Given the description of an element on the screen output the (x, y) to click on. 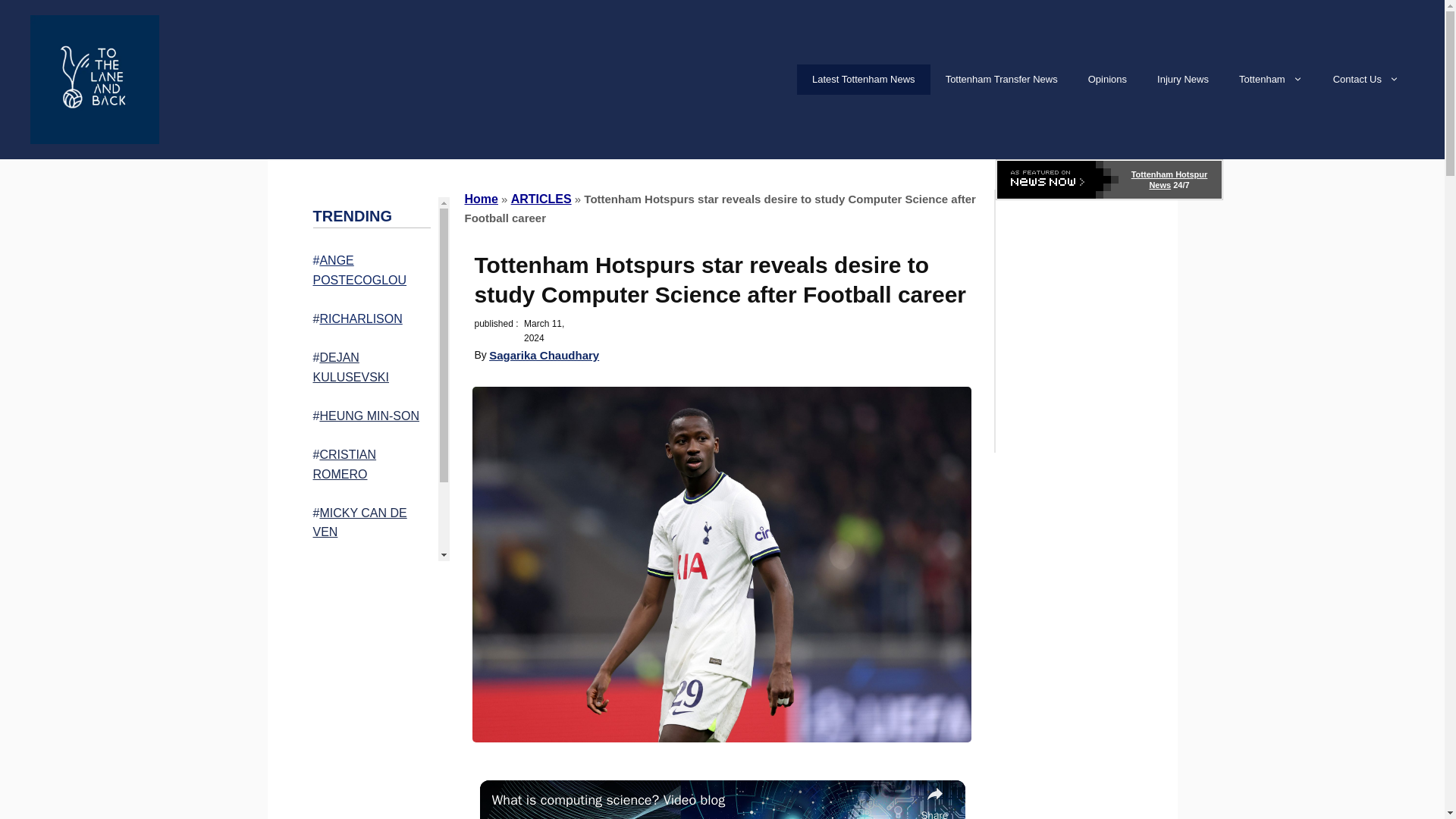
HEUNG MIN-SON (368, 415)
Sagarika Chaudhary (543, 354)
DEJAN KULUSEVSKI (350, 367)
Opinions (1107, 79)
Tottenham (1270, 79)
RADU DRAGUSIN (369, 570)
ANGE POSTECOGLOU (359, 269)
Click here for more Tottenham Hotspur news from NewsNow (1108, 178)
Contact Us (1365, 79)
What is computing science? Video blog (702, 799)
RICHARLISON (359, 318)
ARCHIE GRAY (366, 611)
MICKY CAN DE VEN (359, 522)
CRISTIAN ROMERO (344, 463)
Tottenham Transfer News (1001, 79)
